Given the description of an element on the screen output the (x, y) to click on. 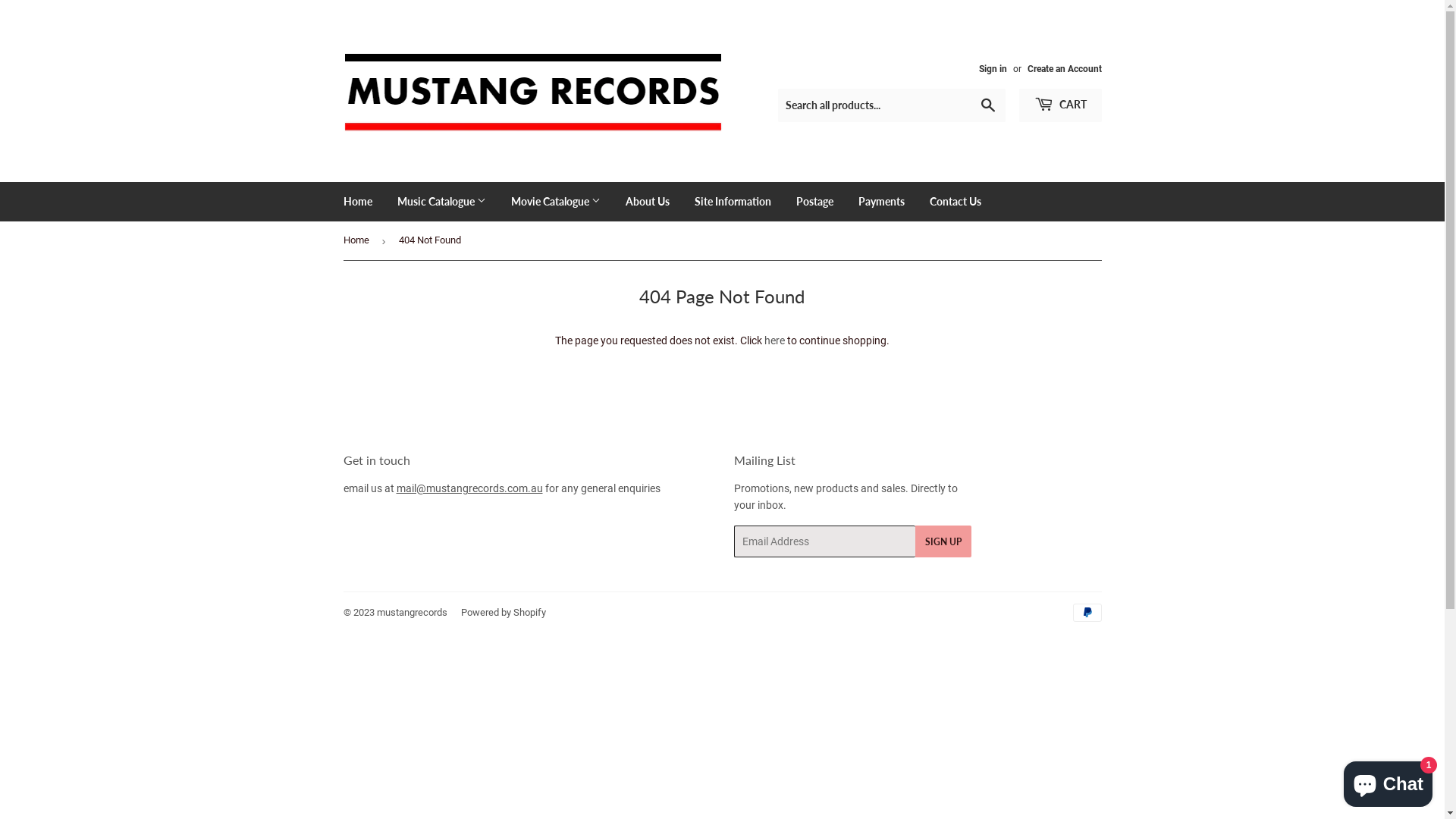
Shopify online store chat Element type: hover (1388, 780)
mustangrecords Element type: text (411, 612)
Movie Catalogue Element type: text (554, 201)
Music Catalogue Element type: text (440, 201)
here Element type: text (774, 340)
About Us Element type: text (647, 201)
Search Element type: text (987, 106)
Sign in Element type: text (992, 68)
SIGN UP Element type: text (943, 541)
CART Element type: text (1060, 105)
Postage Element type: text (814, 201)
Home Element type: text (357, 240)
Powered by Shopify Element type: text (503, 612)
Home Element type: text (357, 201)
Payments Element type: text (880, 201)
Create an Account Element type: text (1063, 68)
Site Information Element type: text (731, 201)
Contact Us Element type: text (954, 201)
